Given the description of an element on the screen output the (x, y) to click on. 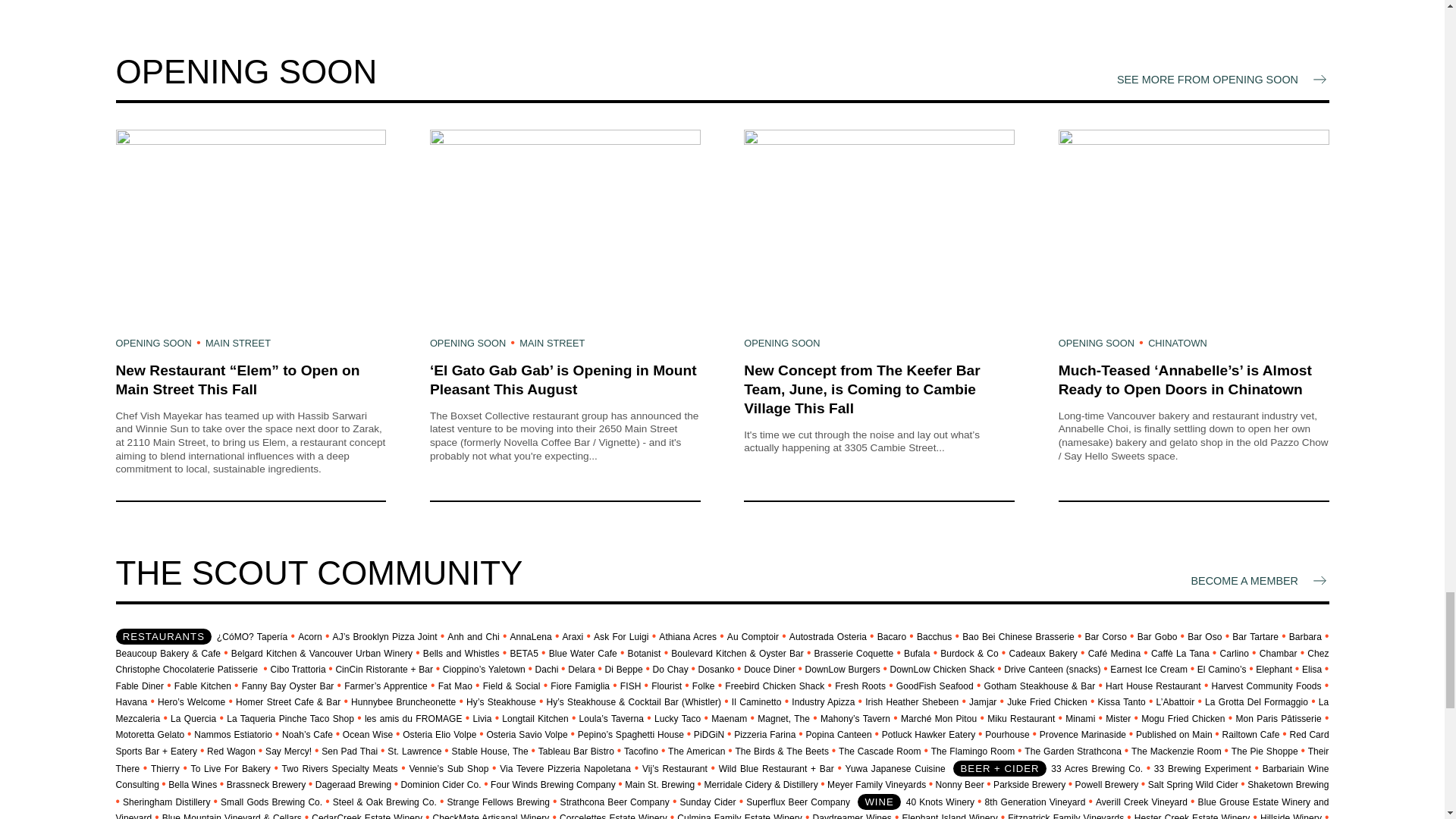
MAIN STREET (237, 342)
OPENING SOON (152, 342)
MAIN STREET (552, 342)
OPENING SOON (467, 342)
